Given the description of an element on the screen output the (x, y) to click on. 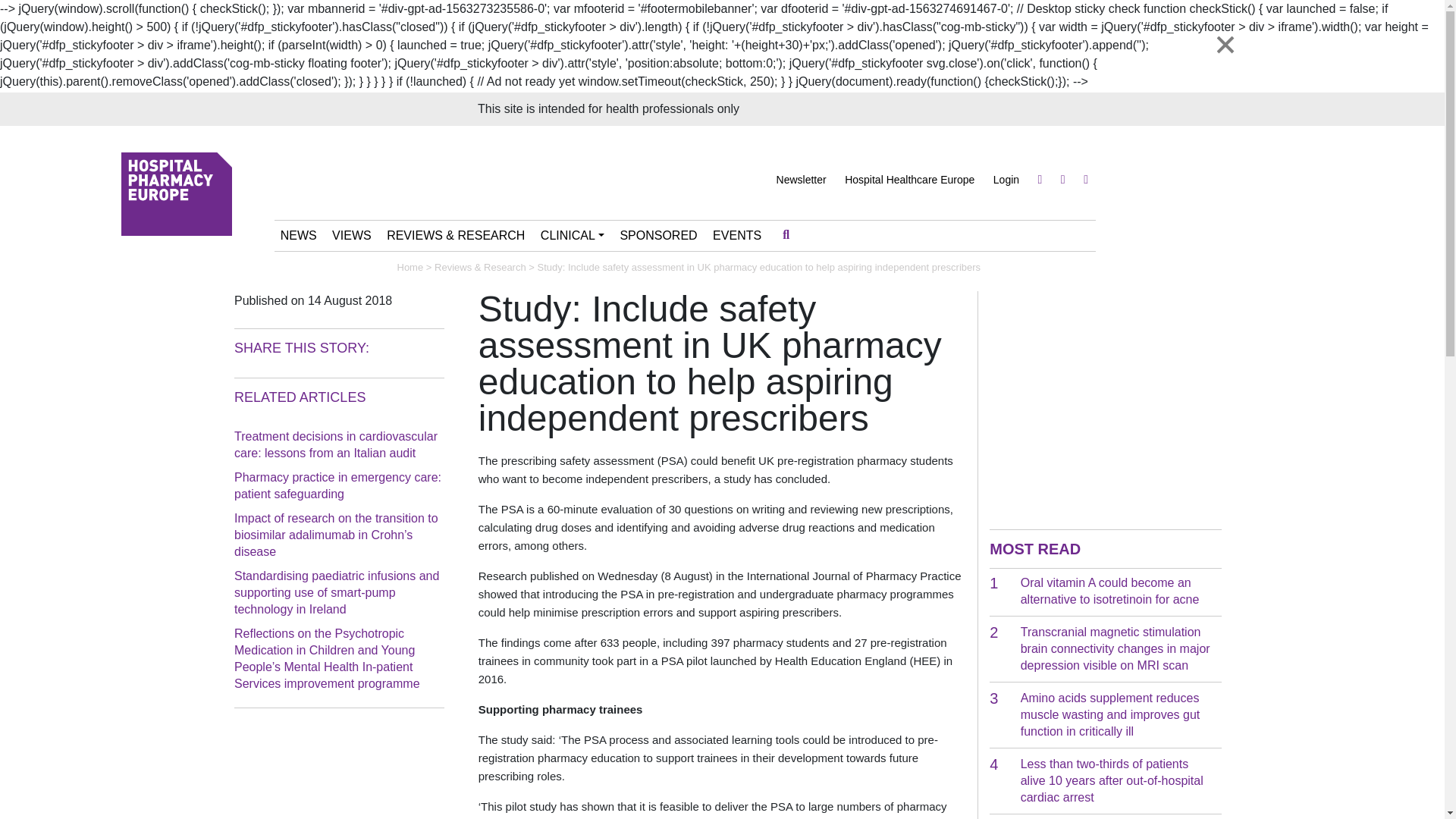
Newsletter (801, 179)
Hospital Healthcare Europe (909, 179)
Facebook (1085, 179)
SPONSORED (657, 235)
Linkedin (1063, 179)
Twitter (1040, 179)
NEWS (299, 235)
CLINICAL (572, 235)
VIEWS (351, 235)
Login (1005, 179)
